Given the description of an element on the screen output the (x, y) to click on. 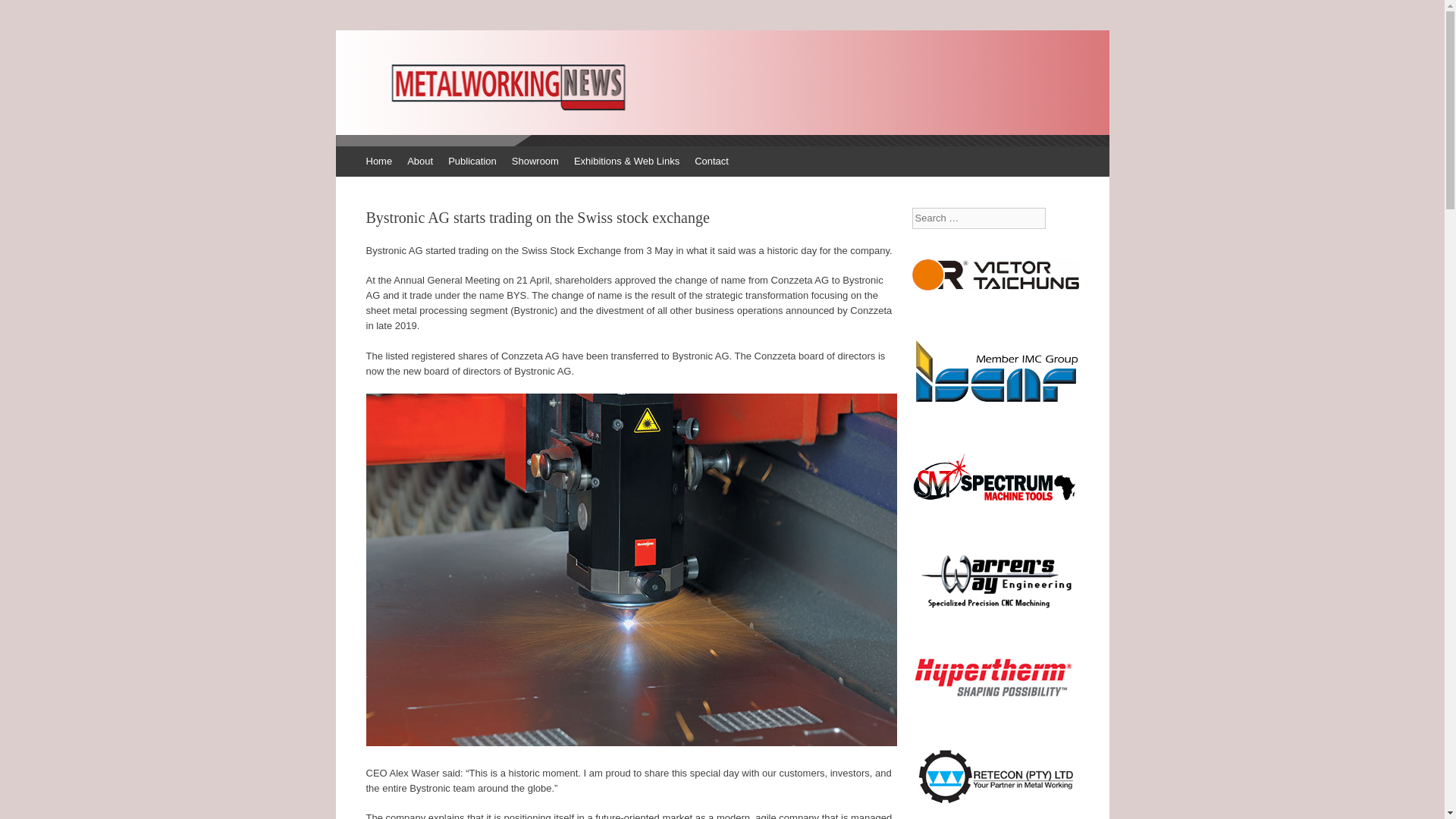
Metalworking News (470, 80)
Showroom (534, 161)
About (419, 161)
Home (378, 161)
Metalworking News (470, 80)
Skip to content (374, 161)
Publication (472, 161)
Contact (711, 161)
Search (23, 15)
